Given the description of an element on the screen output the (x, y) to click on. 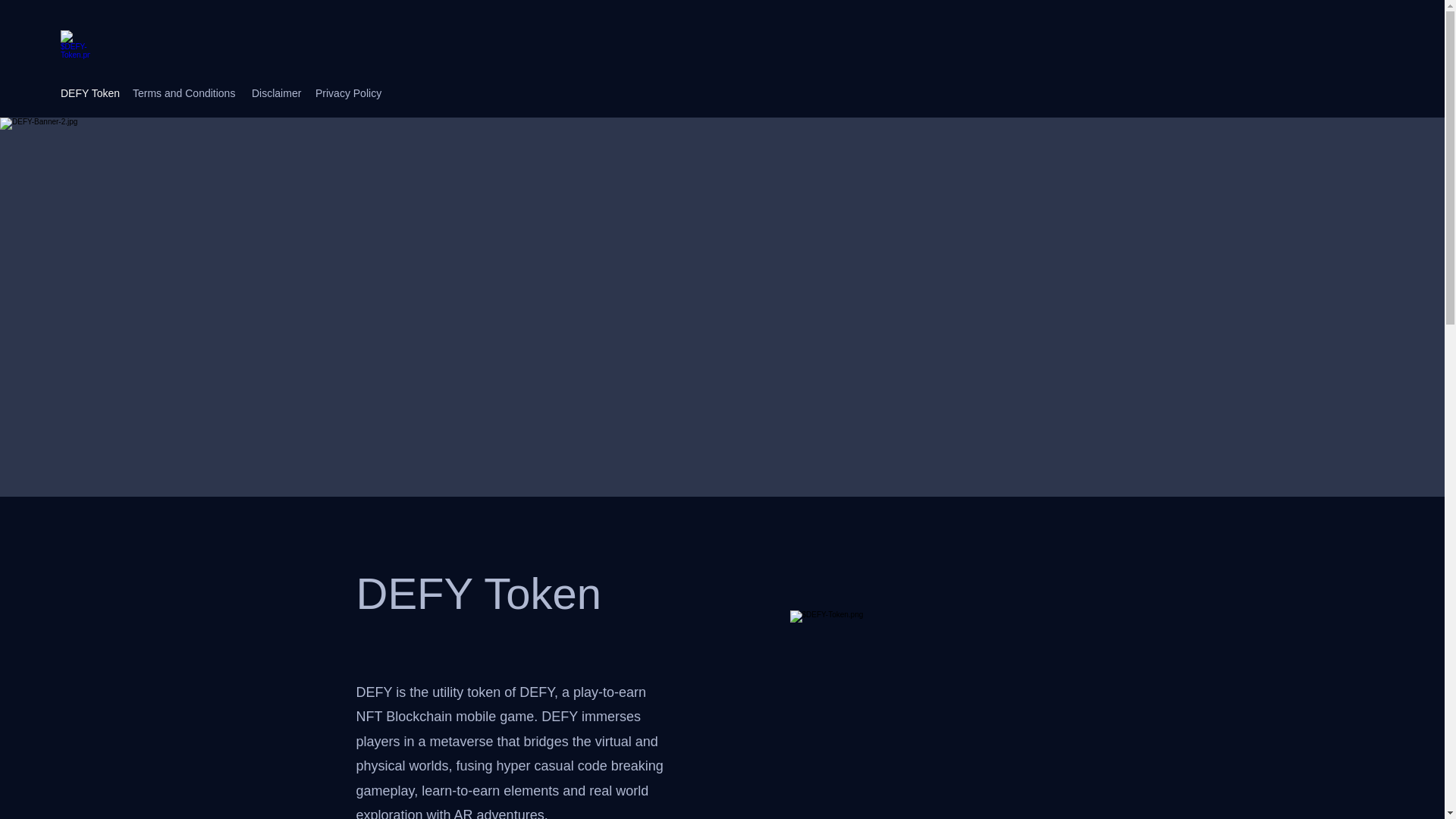
Terms and Conditions (184, 92)
Privacy Policy (345, 92)
DEFY Token (88, 92)
Disclaimer (275, 92)
